Given the description of an element on the screen output the (x, y) to click on. 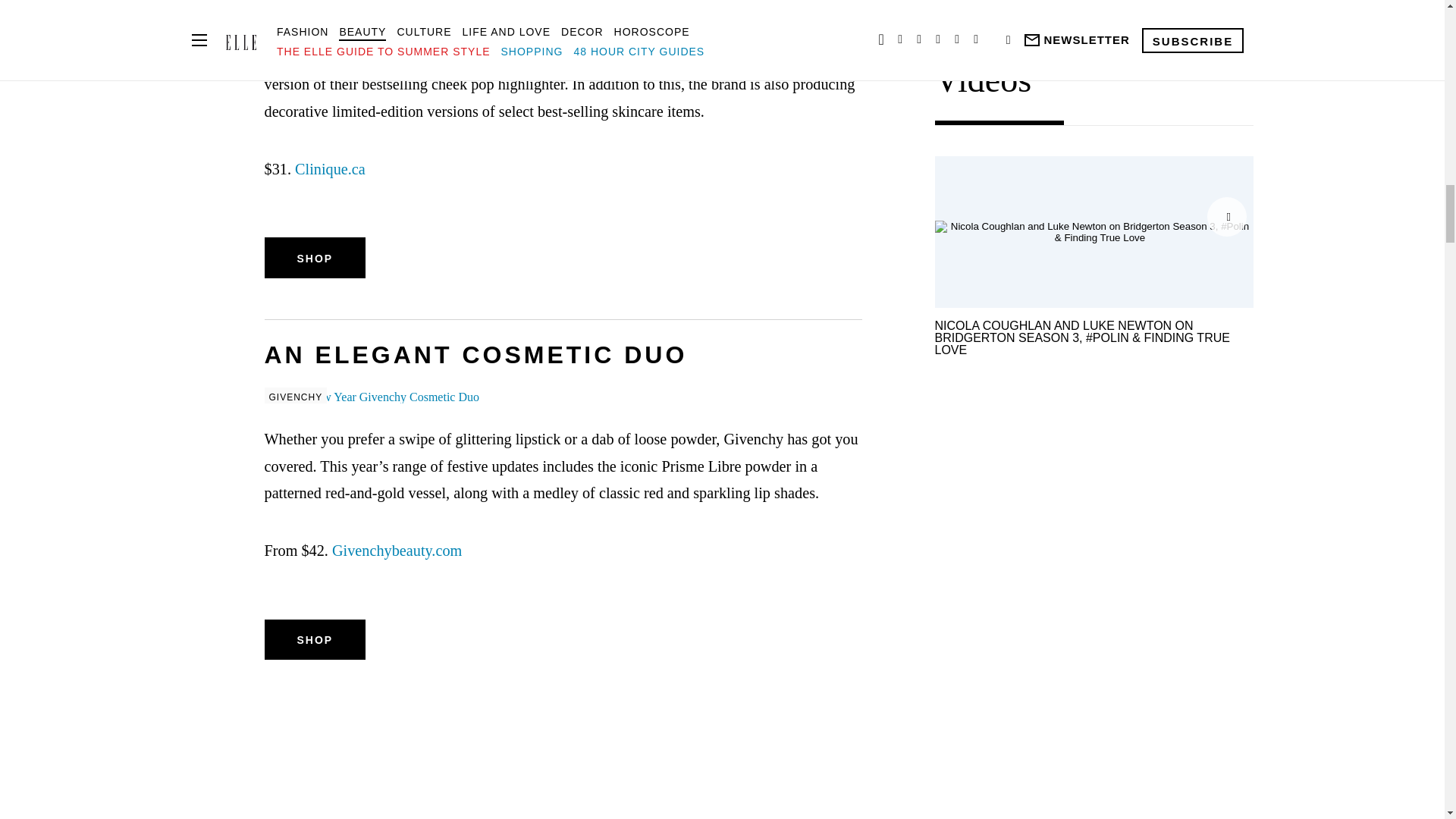
Givenchybeauty.com (396, 550)
GIVENCHY (562, 397)
SHOP (314, 257)
Clinique.ca (330, 168)
SHOP (314, 639)
